Given the description of an element on the screen output the (x, y) to click on. 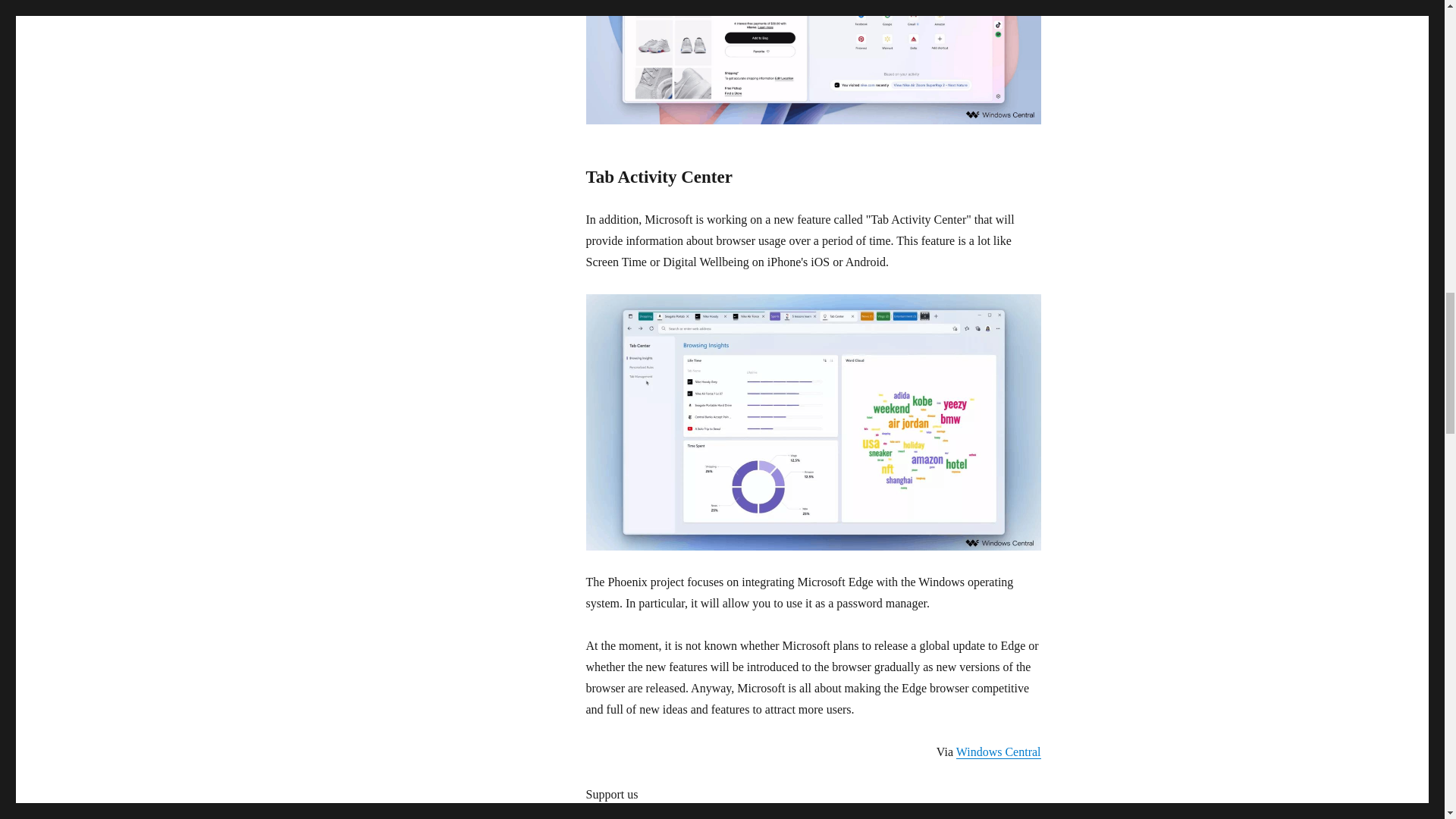
Windows Central (998, 751)
